Given the description of an element on the screen output the (x, y) to click on. 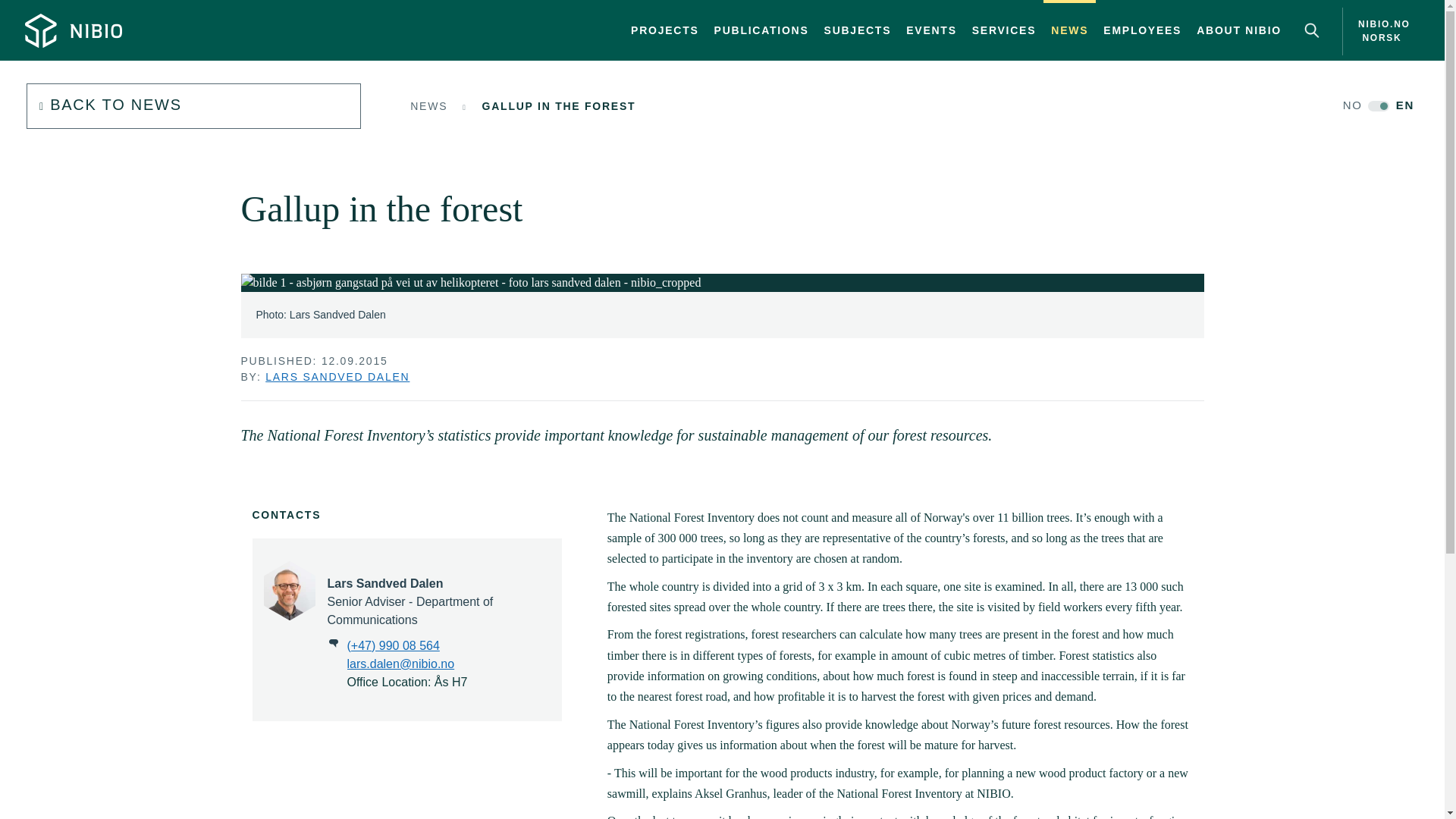
SERVICES (537, 120)
PUBLICATIONS (1003, 30)
ABOUT NIBIO (761, 30)
BACK TO NEWS (1238, 30)
EMPLOYEES (193, 105)
NIBIO.NO NORSK (1142, 30)
SUBJECTS (1376, 31)
NO EN (857, 30)
